Given the description of an element on the screen output the (x, y) to click on. 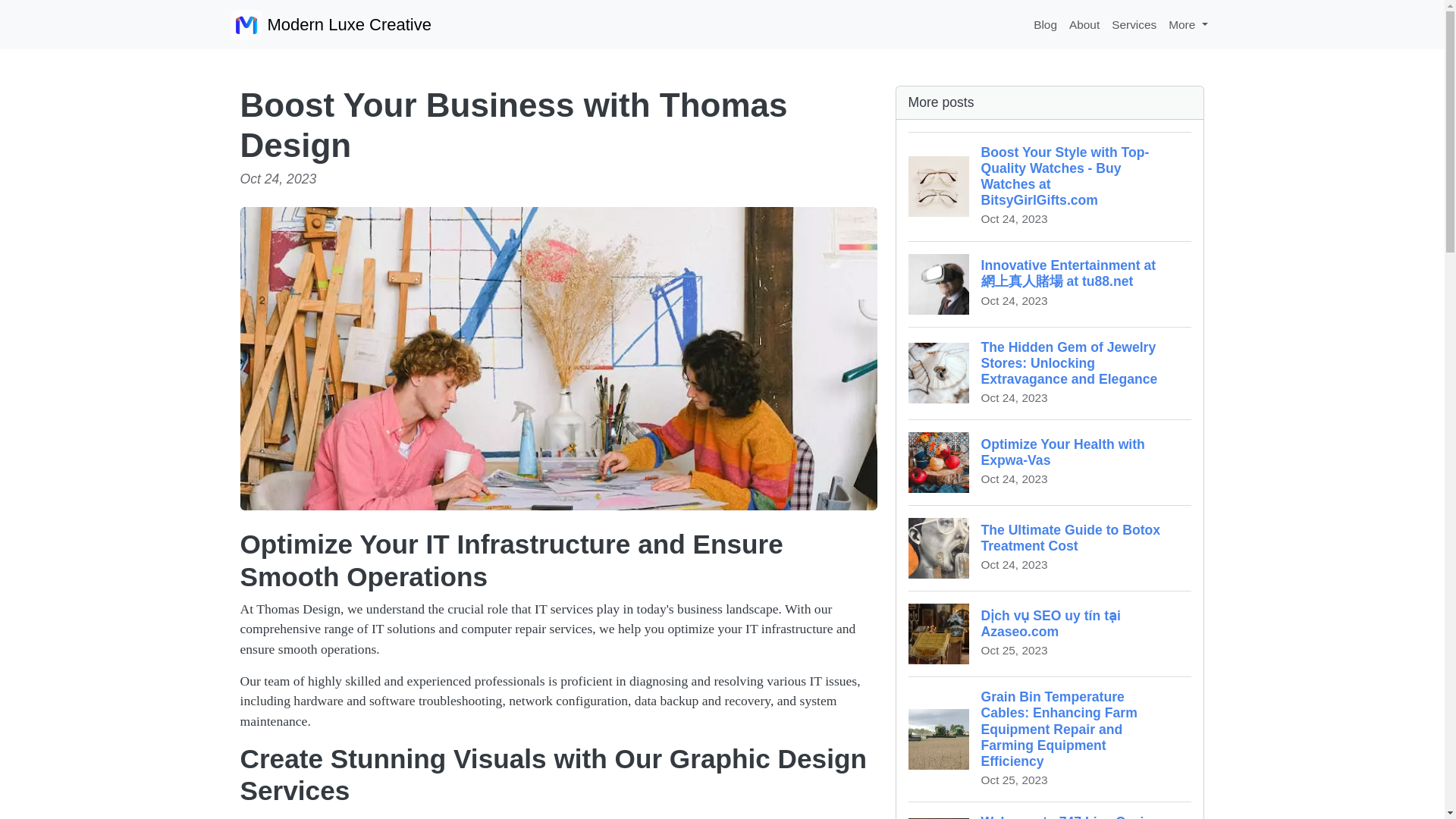
About (1050, 462)
More (1083, 24)
Blog (1186, 24)
Modern Luxe Creative (1044, 24)
